Given the description of an element on the screen output the (x, y) to click on. 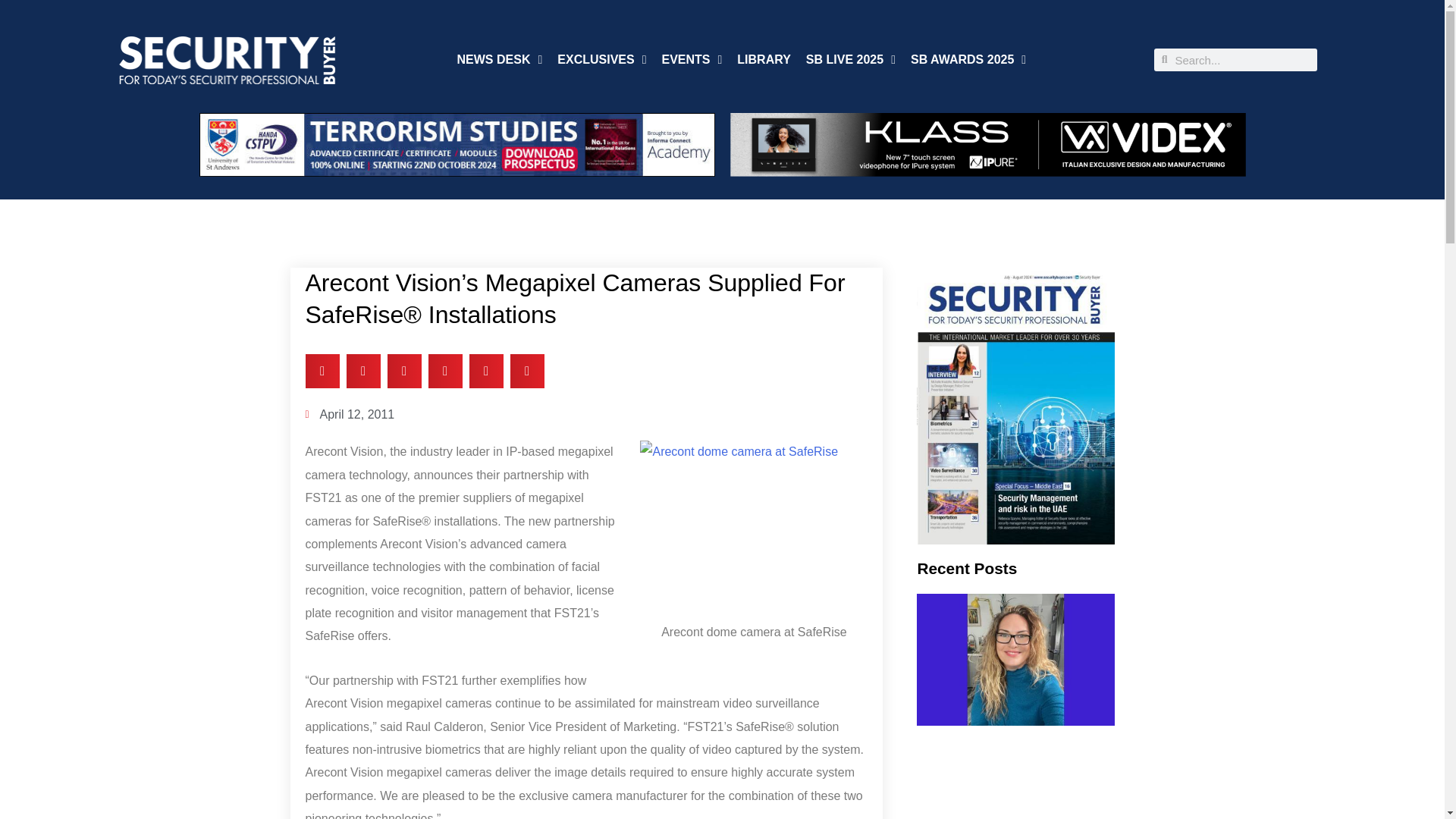
EVENTS (691, 59)
SB LIVE 2025 (850, 59)
SB AWARDS 2025 (968, 59)
LIBRARY (763, 59)
NEWS DESK (500, 59)
Arecont dome camera at SafeRise (753, 525)
EXCLUSIVES (601, 59)
